Given the description of an element on the screen output the (x, y) to click on. 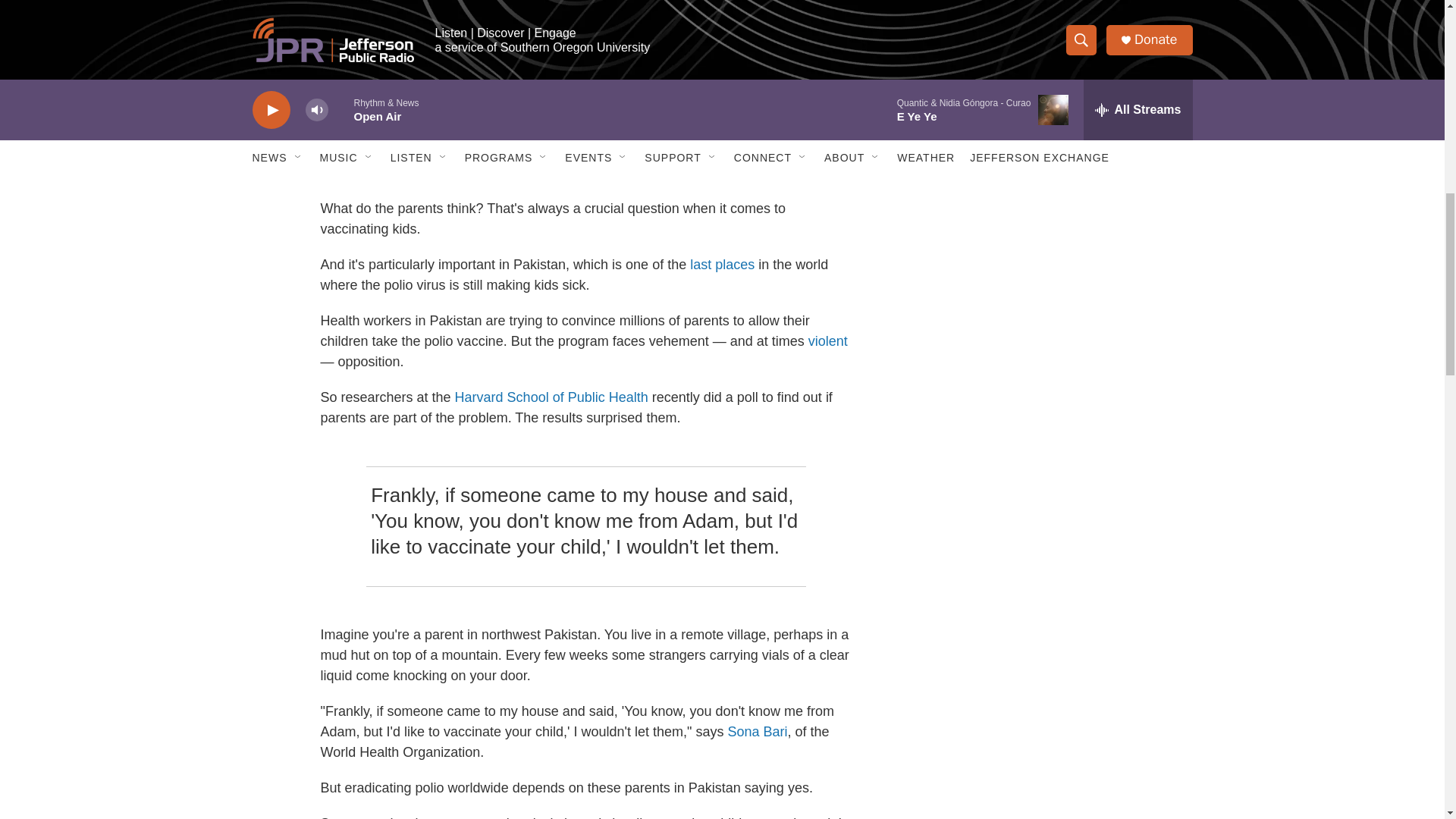
3rd party ad content (1062, 16)
